Given the description of an element on the screen output the (x, y) to click on. 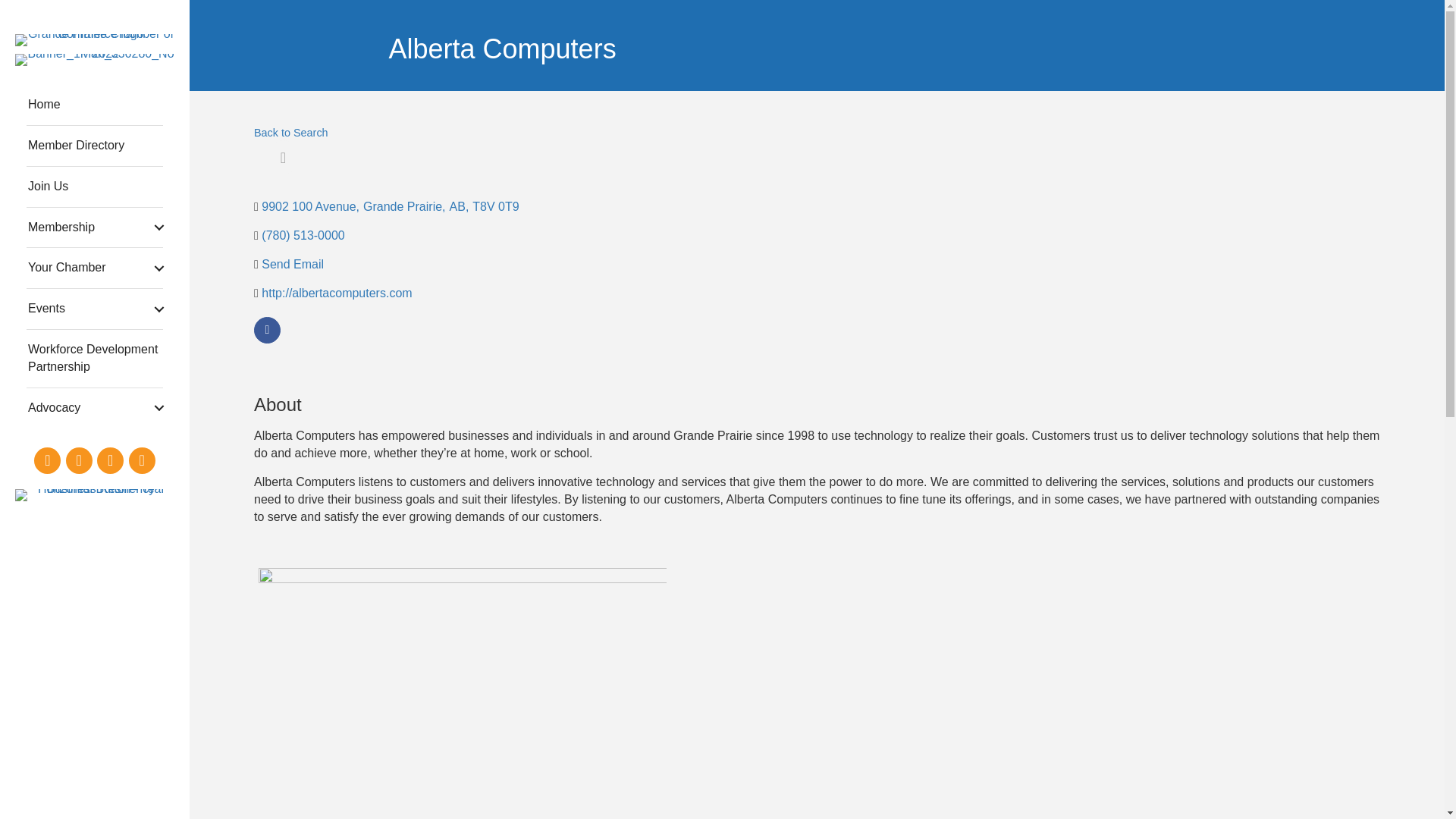
Advocacy (94, 408)
Membership (94, 228)
Home (94, 105)
Workforce Development Partnership (94, 358)
Business Resiliency Horizontal Button - Teal (94, 494)
Member Directory (94, 146)
grand-prairie-chamber-logo (94, 39)
Your Chamber (94, 268)
Events (94, 309)
Join Us (94, 187)
